Given the description of an element on the screen output the (x, y) to click on. 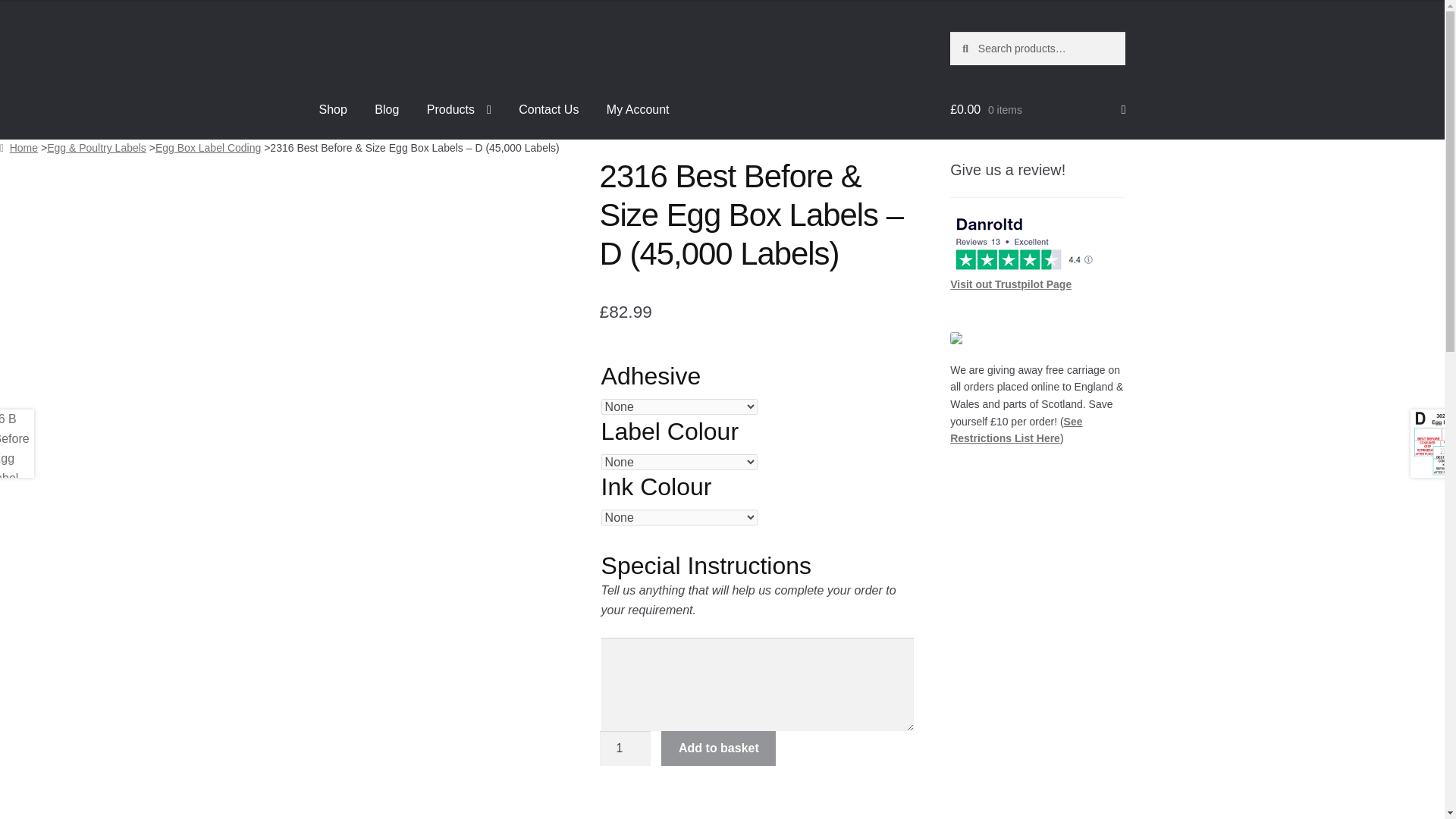
Contact Us (548, 109)
View your shopping basket (1037, 109)
My Account (637, 109)
Products (458, 109)
1 (624, 748)
